Given the description of an element on the screen output the (x, y) to click on. 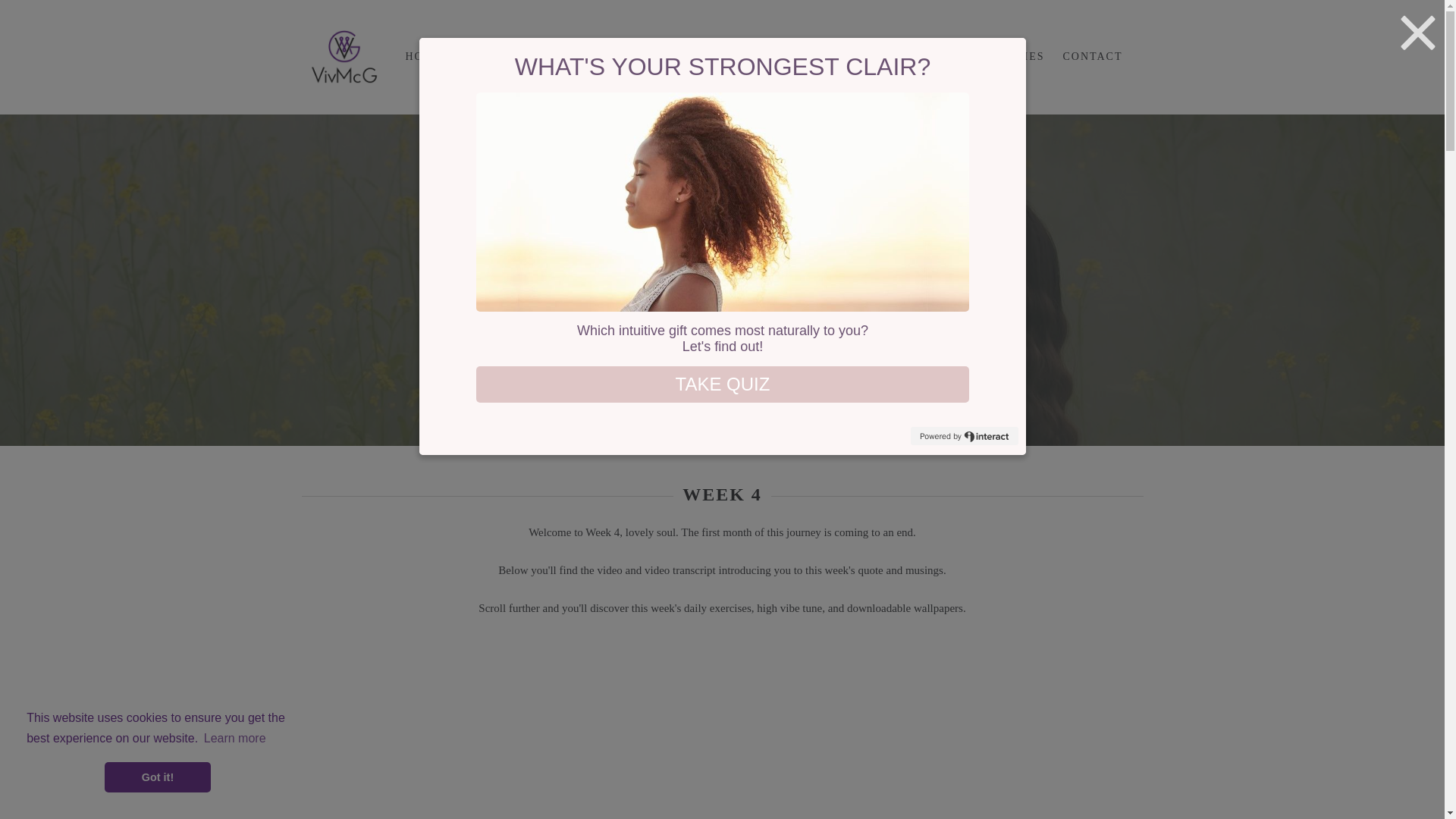
WORK WITH ME (577, 56)
Learn more (234, 738)
ABOUT (482, 56)
Got it! (157, 777)
HOME (423, 56)
LEARN WITH ME (708, 56)
